Given the description of an element on the screen output the (x, y) to click on. 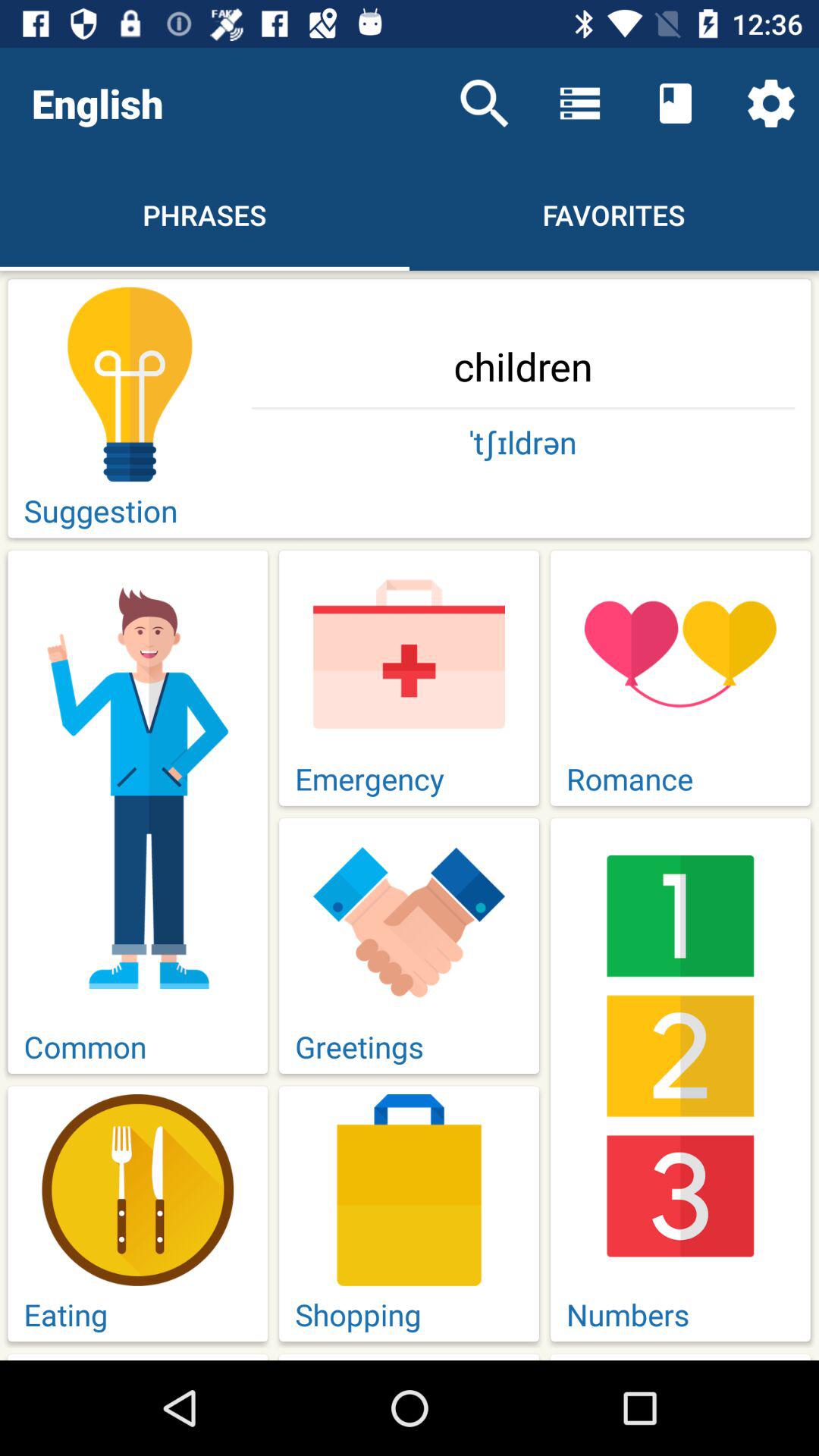
select the icon above the children item (771, 103)
